Given the description of an element on the screen output the (x, y) to click on. 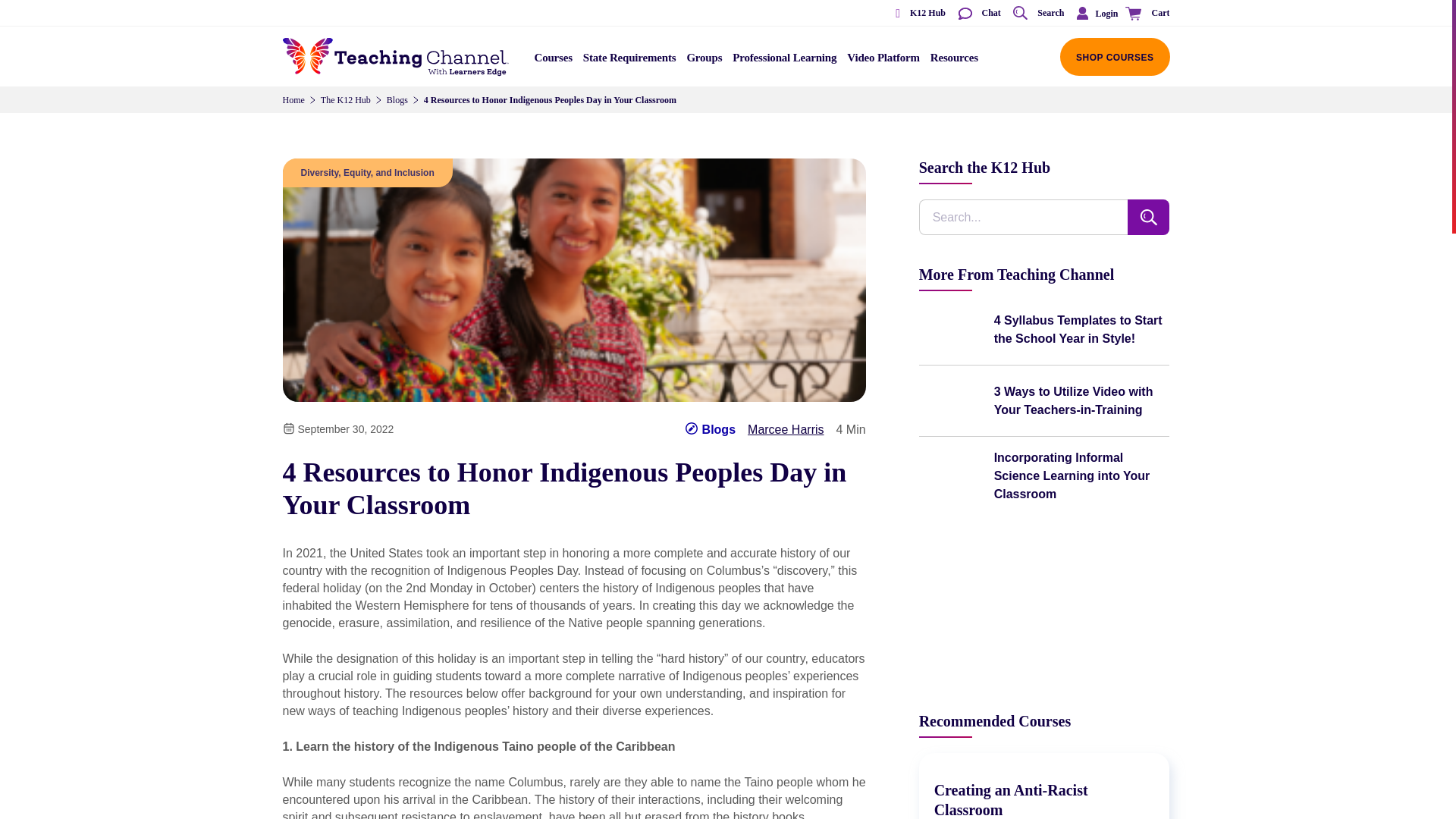
Login (1093, 12)
Courses (553, 62)
Search (1037, 13)
K12 Hub (914, 13)
Cart (1145, 13)
Chat (978, 13)
State Requirements (629, 62)
